Given the description of an element on the screen output the (x, y) to click on. 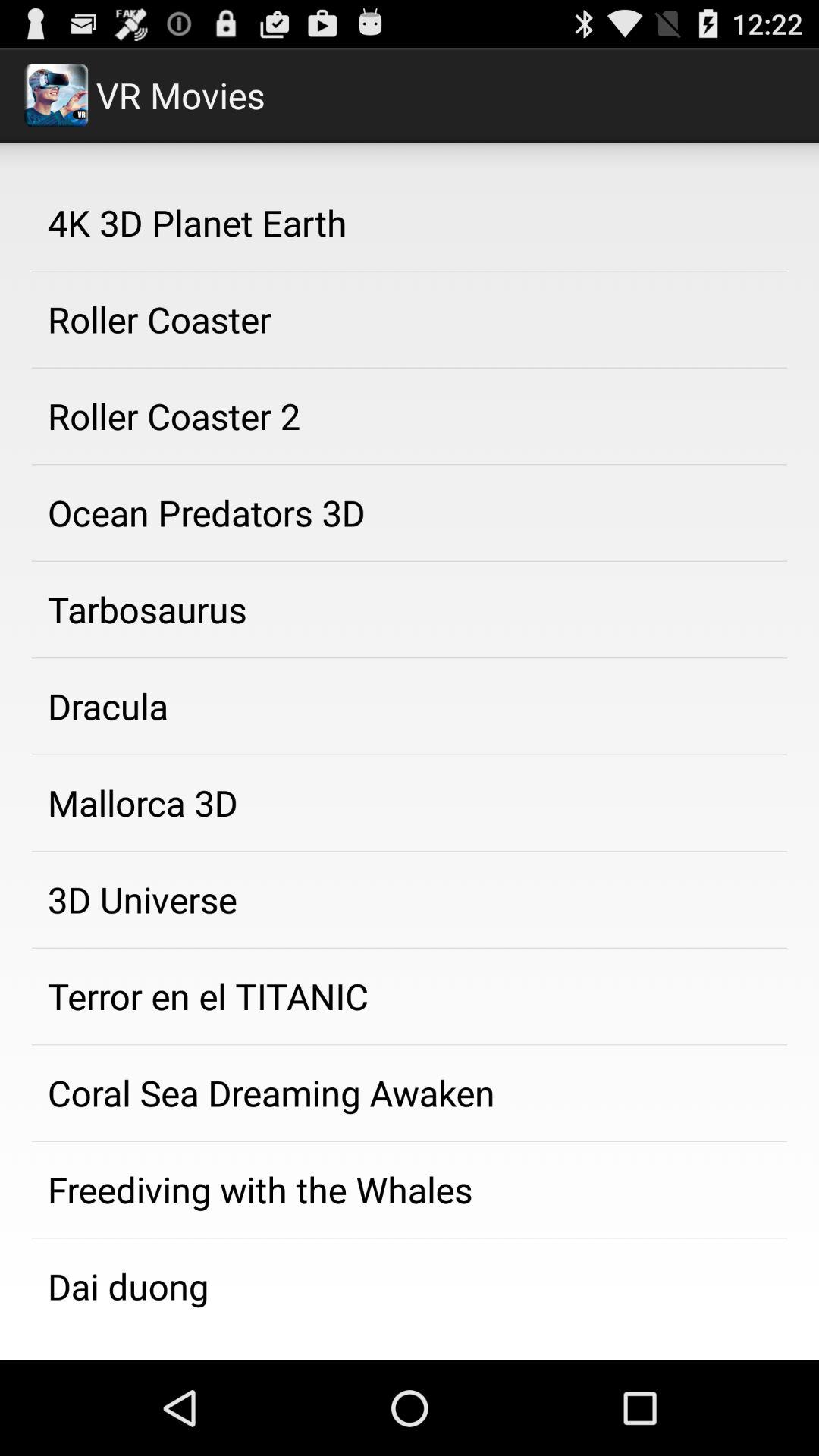
click the terror en el app (409, 996)
